Given the description of an element on the screen output the (x, y) to click on. 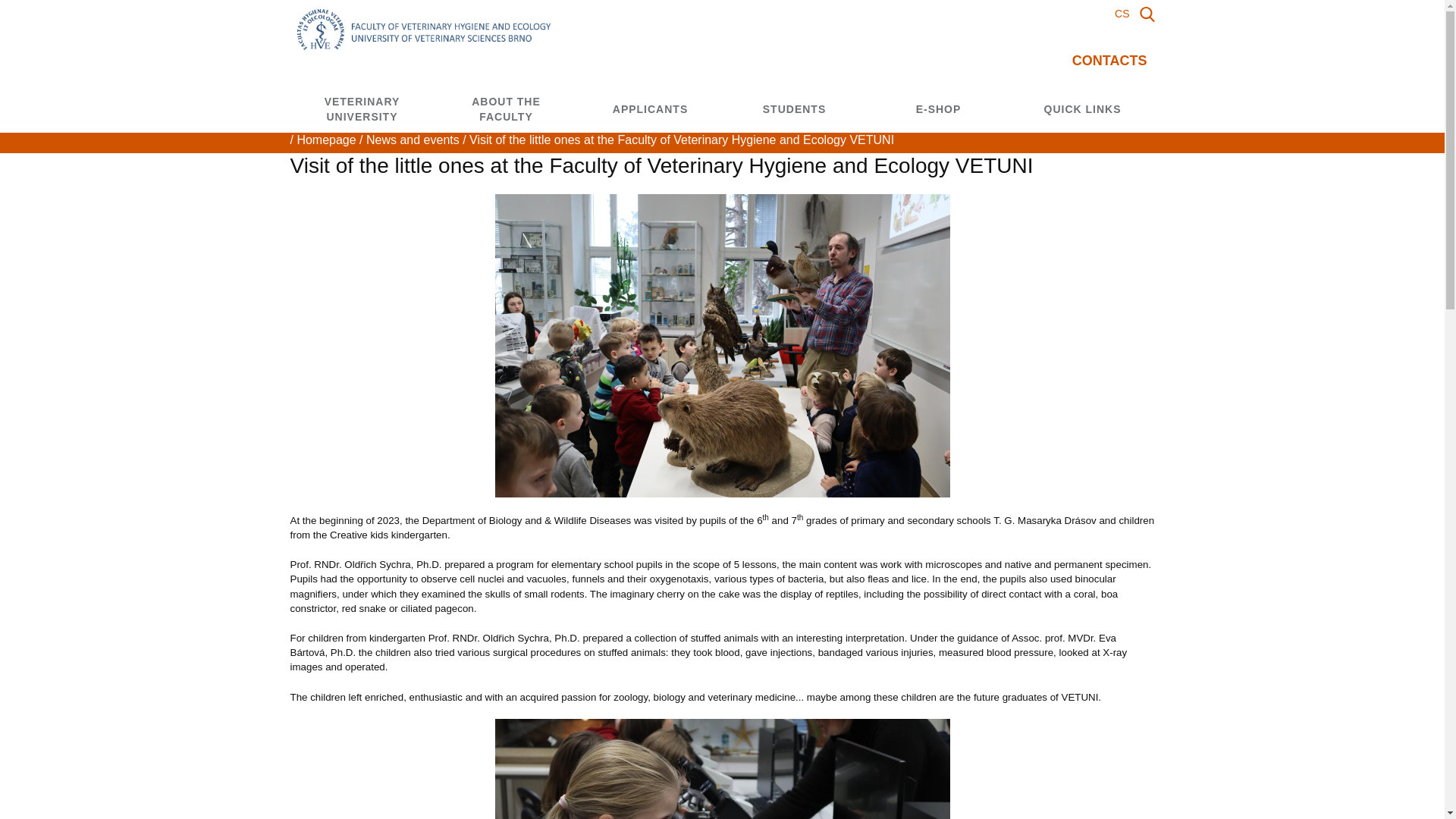
News and events (505, 109)
APPLICANTS (413, 139)
Homepage (649, 109)
Faculty of Veterinary Hygiene and Ecology VETUNI (326, 139)
STUDENTS (423, 36)
QUICK LINKS (793, 109)
CS (361, 109)
E-SHOP (1082, 109)
CONTACTS (1122, 13)
